Given the description of an element on the screen output the (x, y) to click on. 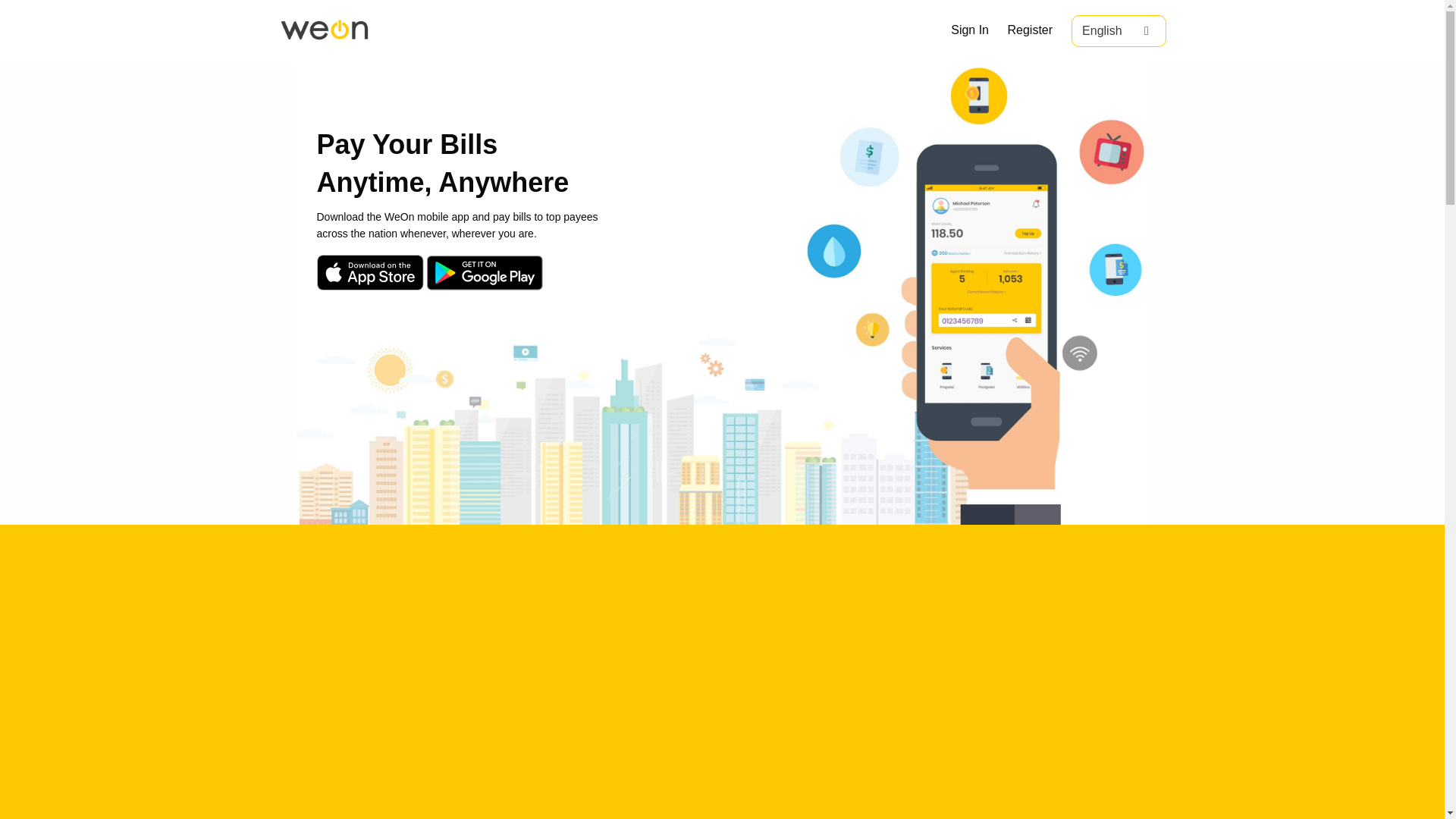
Register (1029, 29)
English (1118, 30)
Sign In (969, 29)
